Given the description of an element on the screen output the (x, y) to click on. 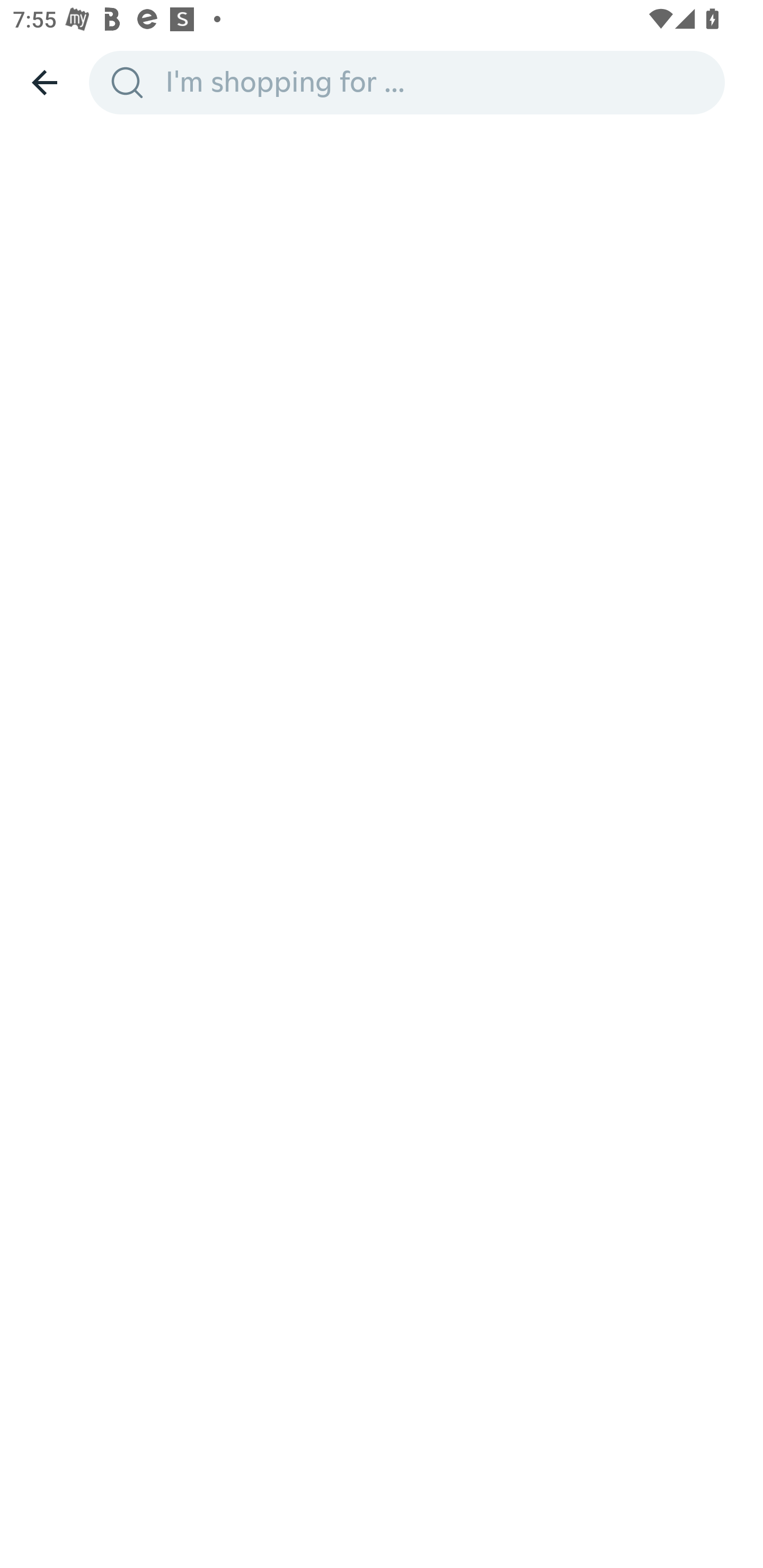
Navigate up (44, 82)
I'm shopping for ... (438, 81)
